Given the description of an element on the screen output the (x, y) to click on. 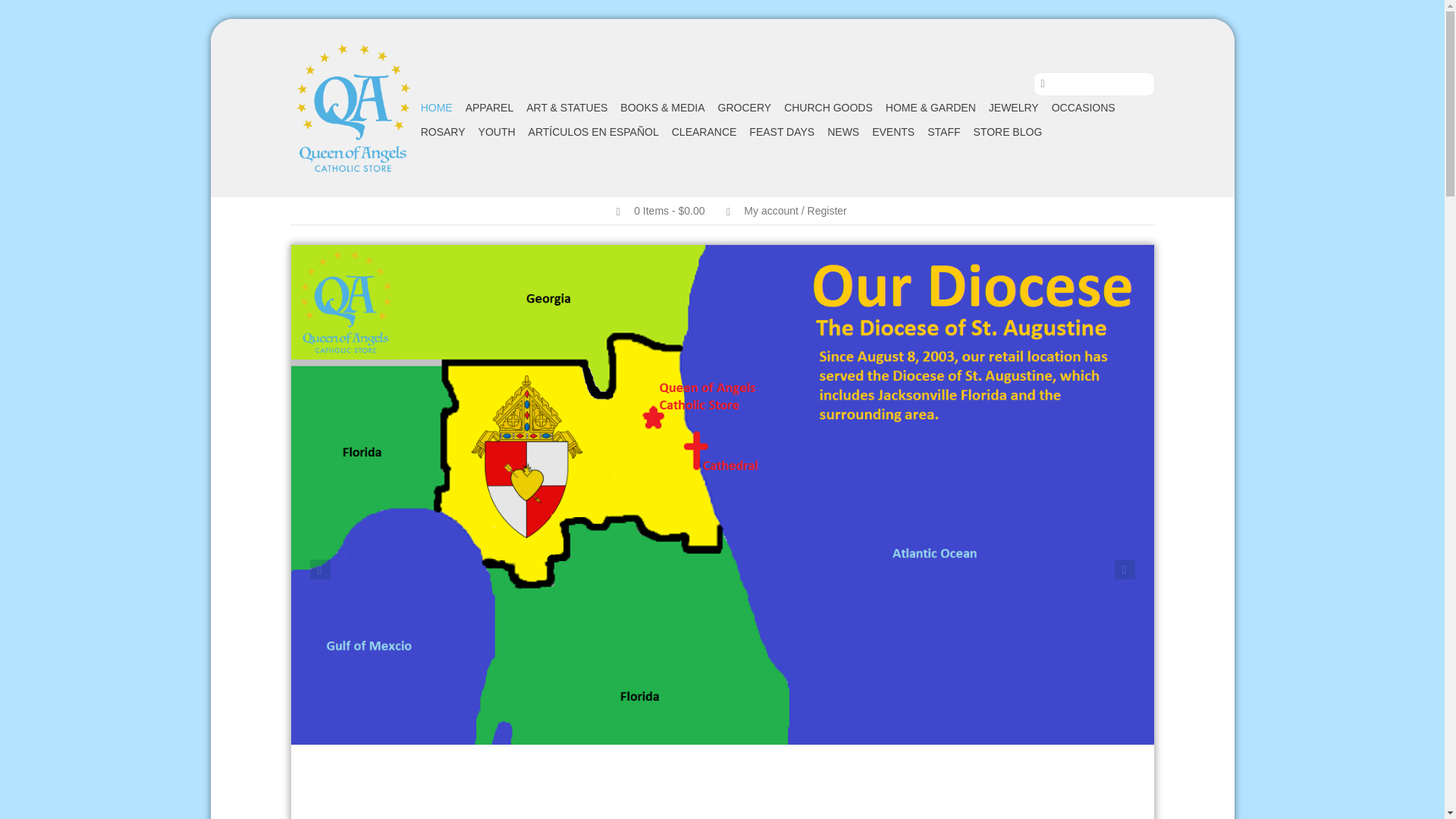
Apparel (489, 107)
QOA (351, 107)
HOME (436, 107)
APPAREL (489, 107)
